Given the description of an element on the screen output the (x, y) to click on. 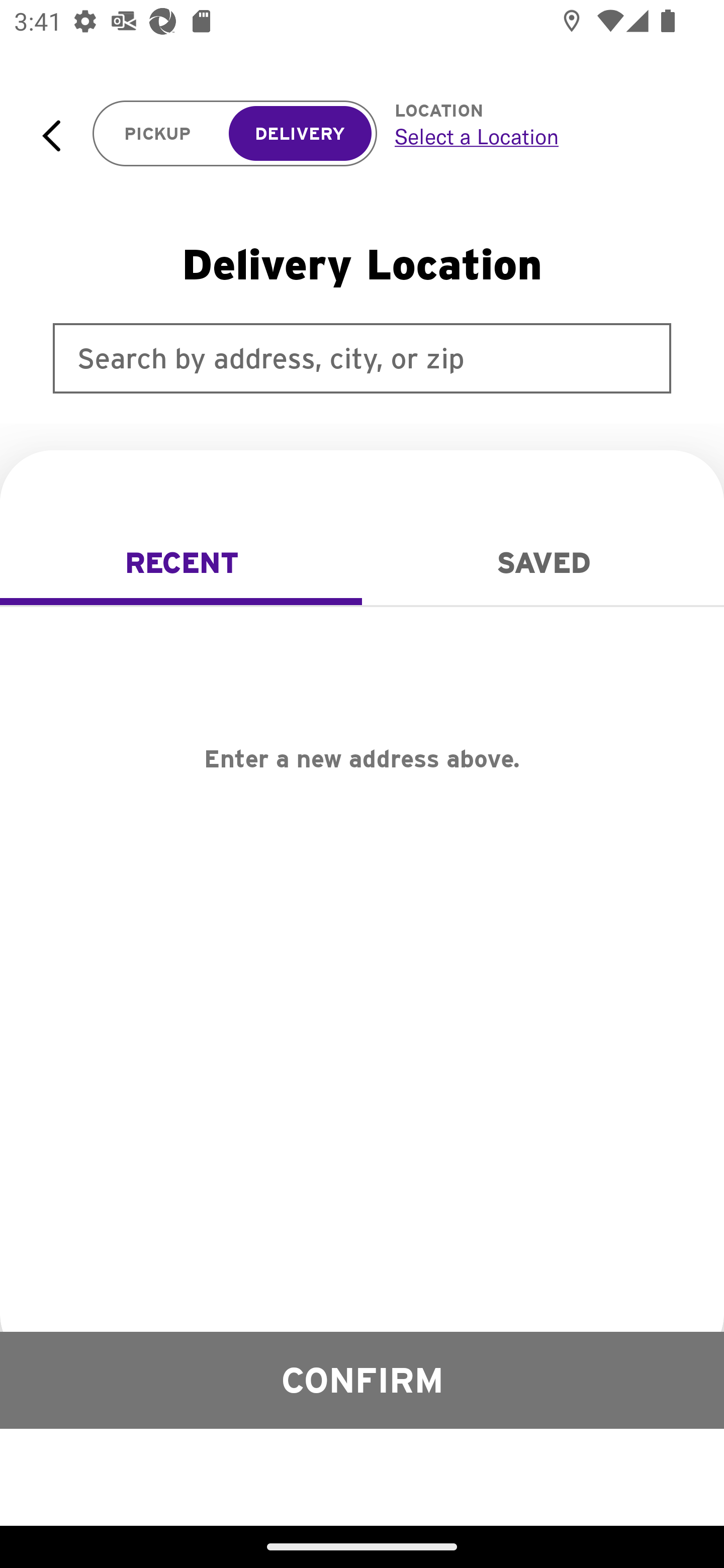
PICKUP (157, 133)
DELIVERY (299, 133)
Select a Location (536, 136)
Search by address, city, or zip (361, 358)
Saved SAVED (543, 562)
CONFIRM (362, 1379)
